Given the description of an element on the screen output the (x, y) to click on. 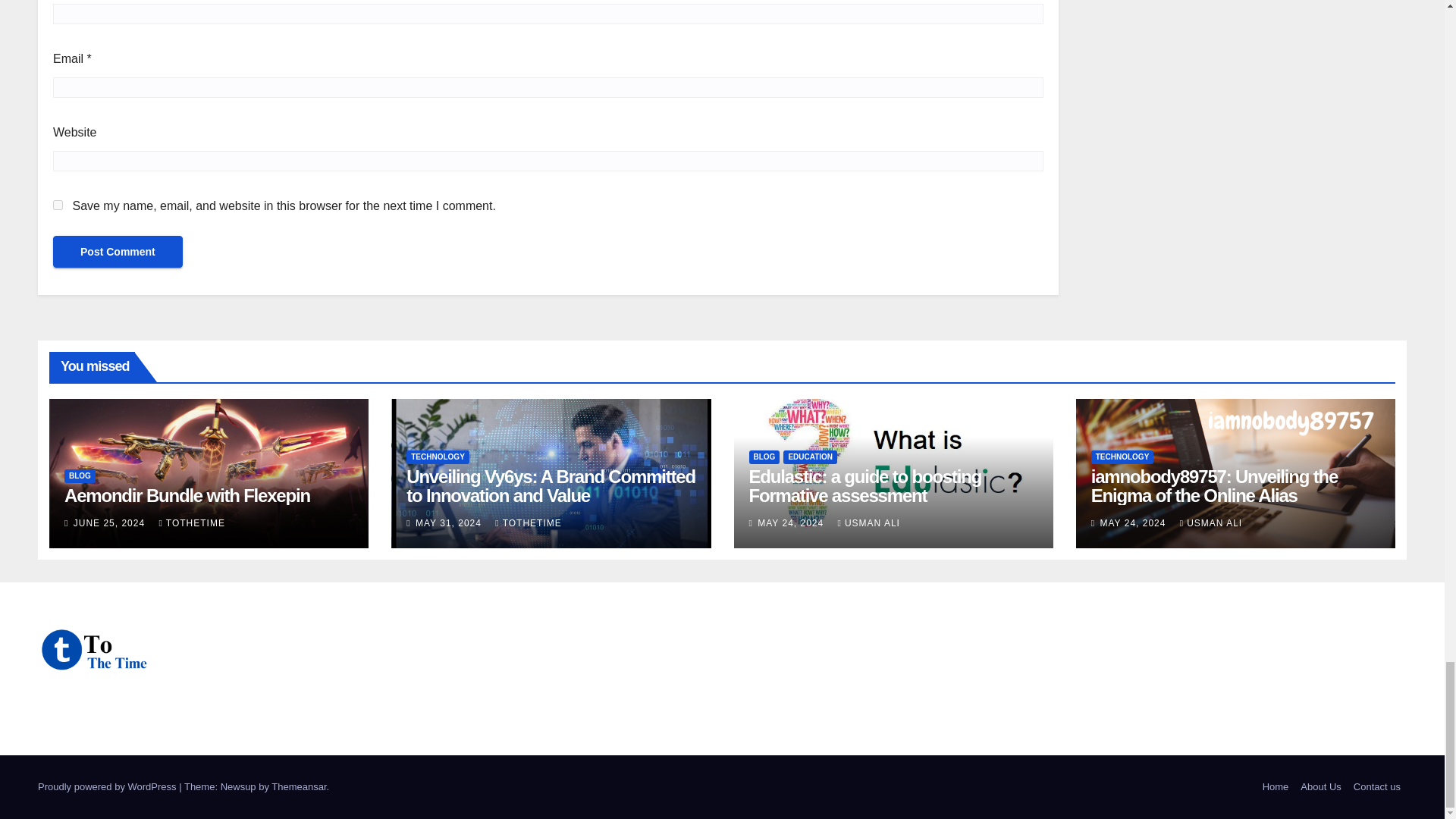
yes (57, 204)
Post Comment (117, 251)
